Given the description of an element on the screen output the (x, y) to click on. 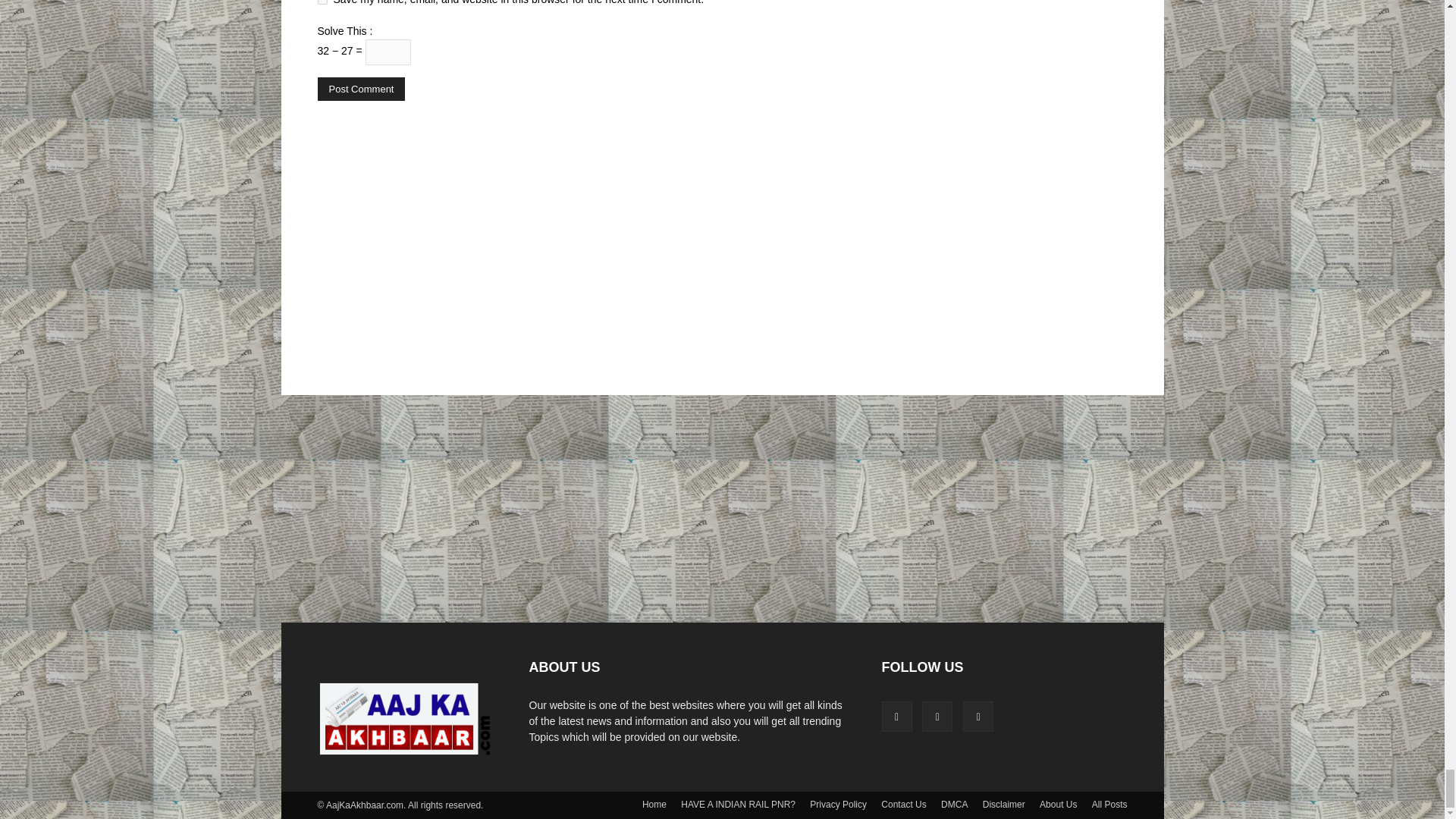
yes (321, 2)
Post Comment (360, 88)
